Given the description of an element on the screen output the (x, y) to click on. 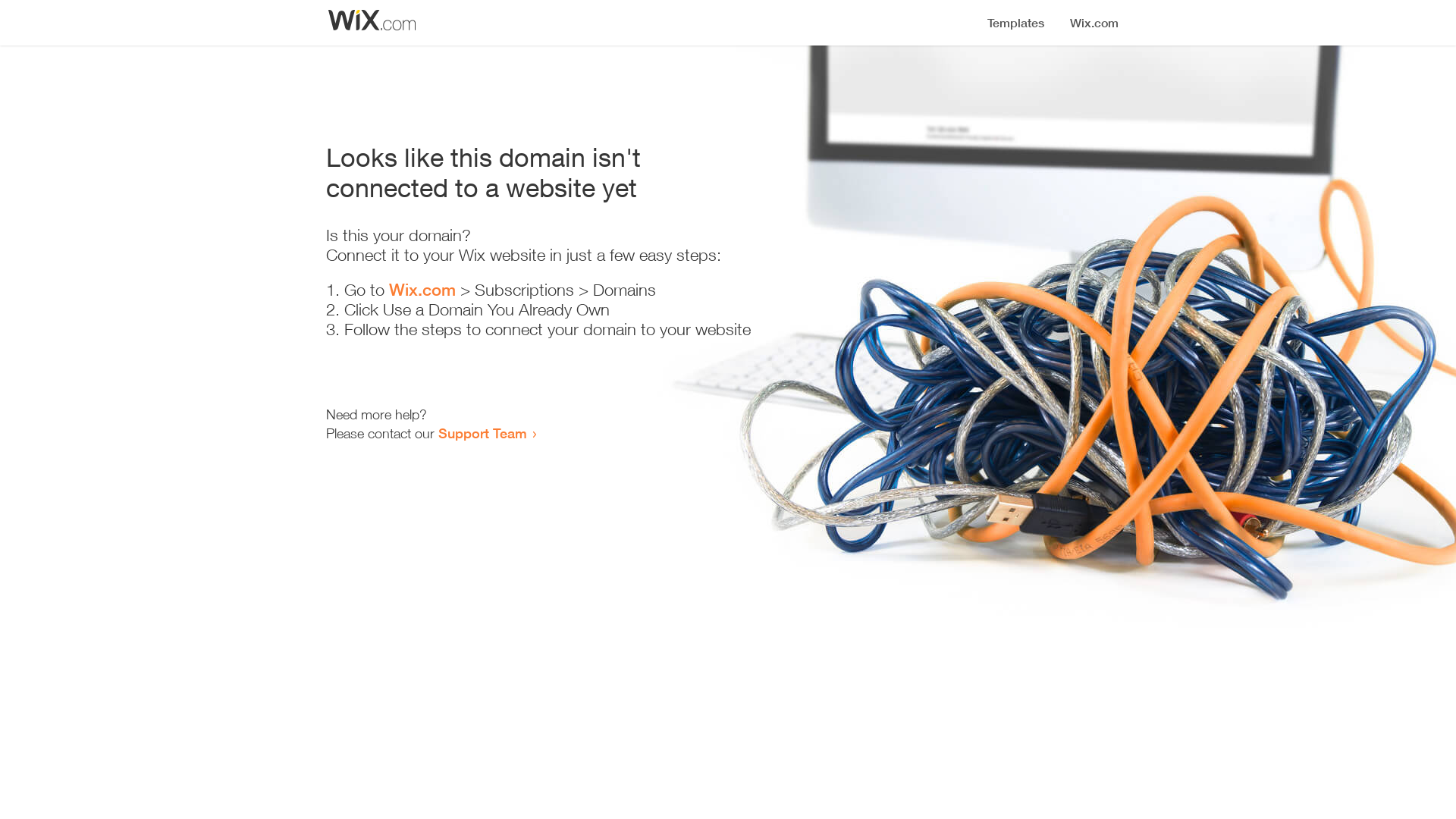
Support Team Element type: text (482, 432)
Wix.com Element type: text (422, 289)
